Given the description of an element on the screen output the (x, y) to click on. 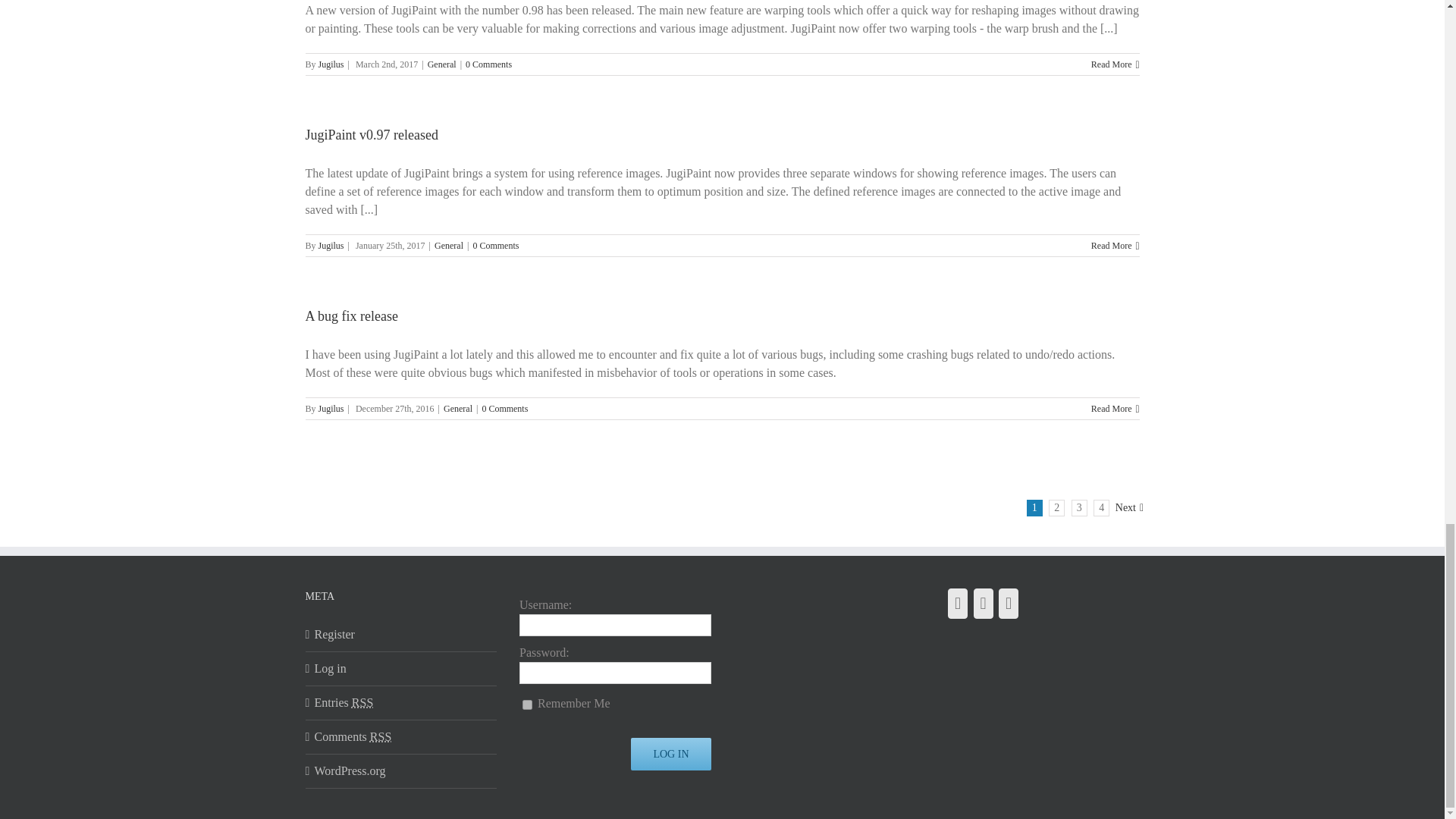
Posts by Jugilus (330, 63)
Really Simple Syndication (380, 736)
Really Simple Syndication (362, 702)
Posts by Jugilus (330, 245)
Posts by Jugilus (330, 408)
